Given the description of an element on the screen output the (x, y) to click on. 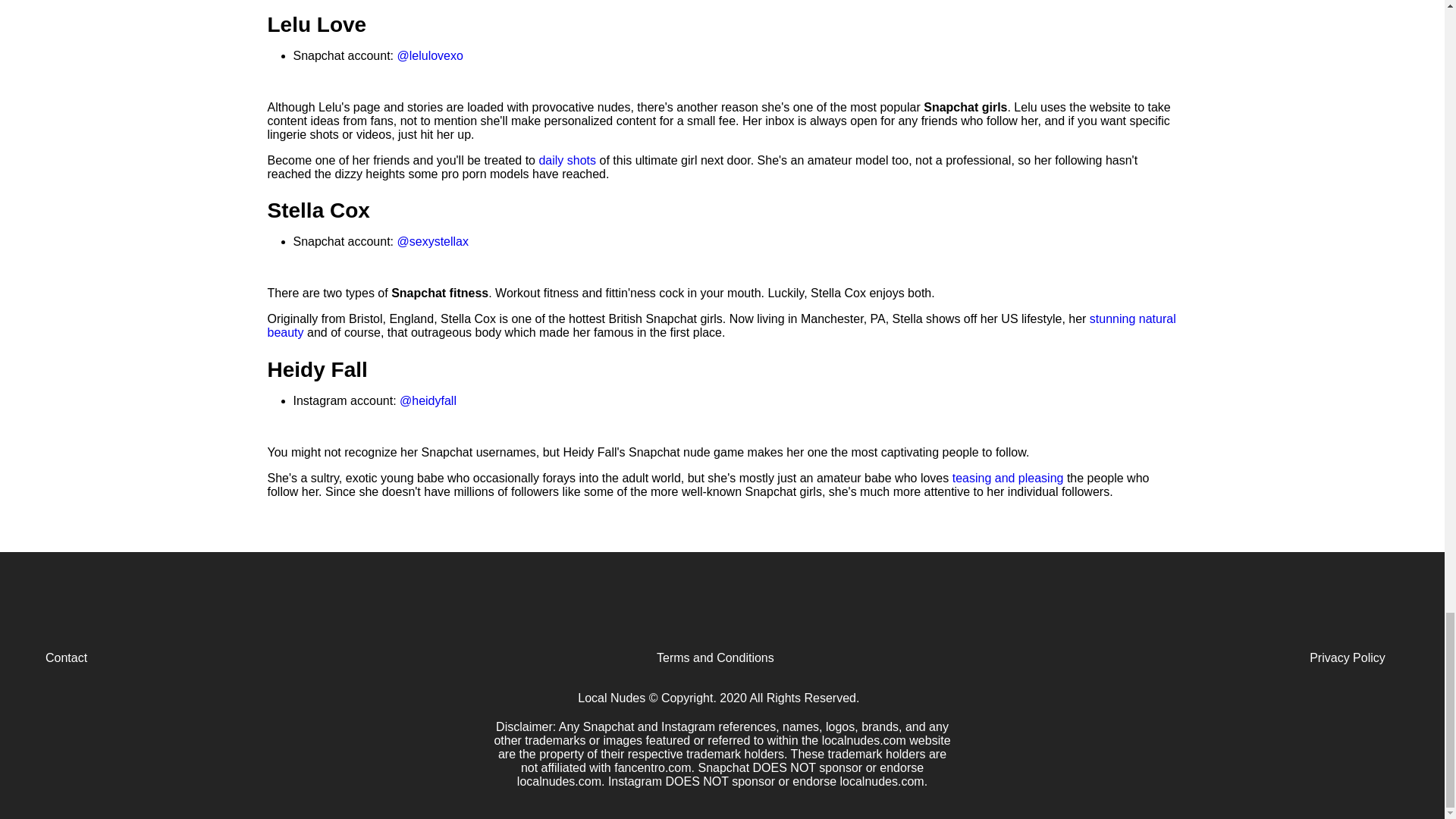
daily shots (566, 160)
stunning natural beauty (720, 325)
Privacy Policy (1171, 657)
teasing and pleasing (1009, 477)
Contact (258, 657)
Terms and Conditions (714, 657)
